Given the description of an element on the screen output the (x, y) to click on. 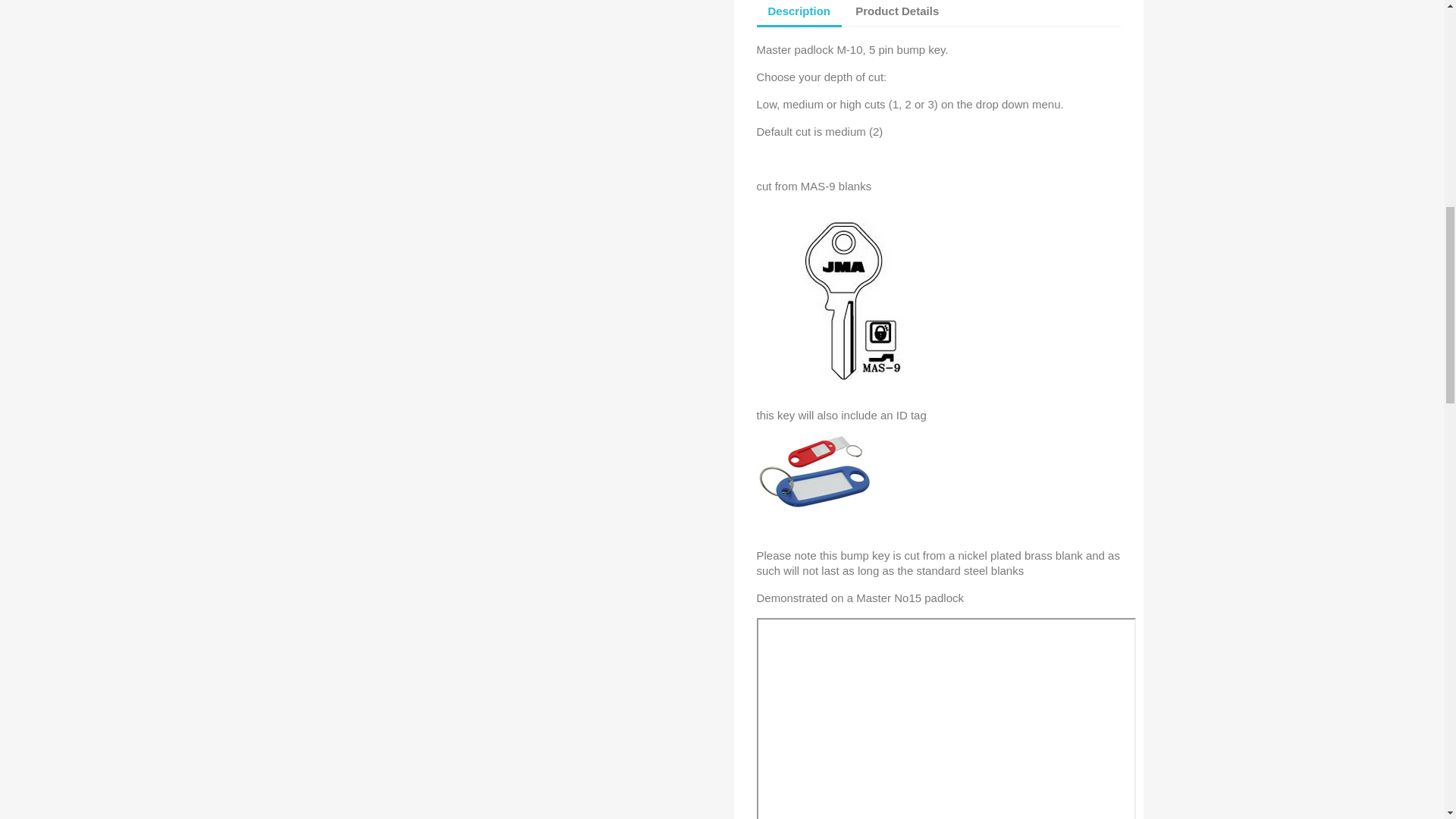
Description (800, 13)
Product Details (897, 12)
